Given the description of an element on the screen output the (x, y) to click on. 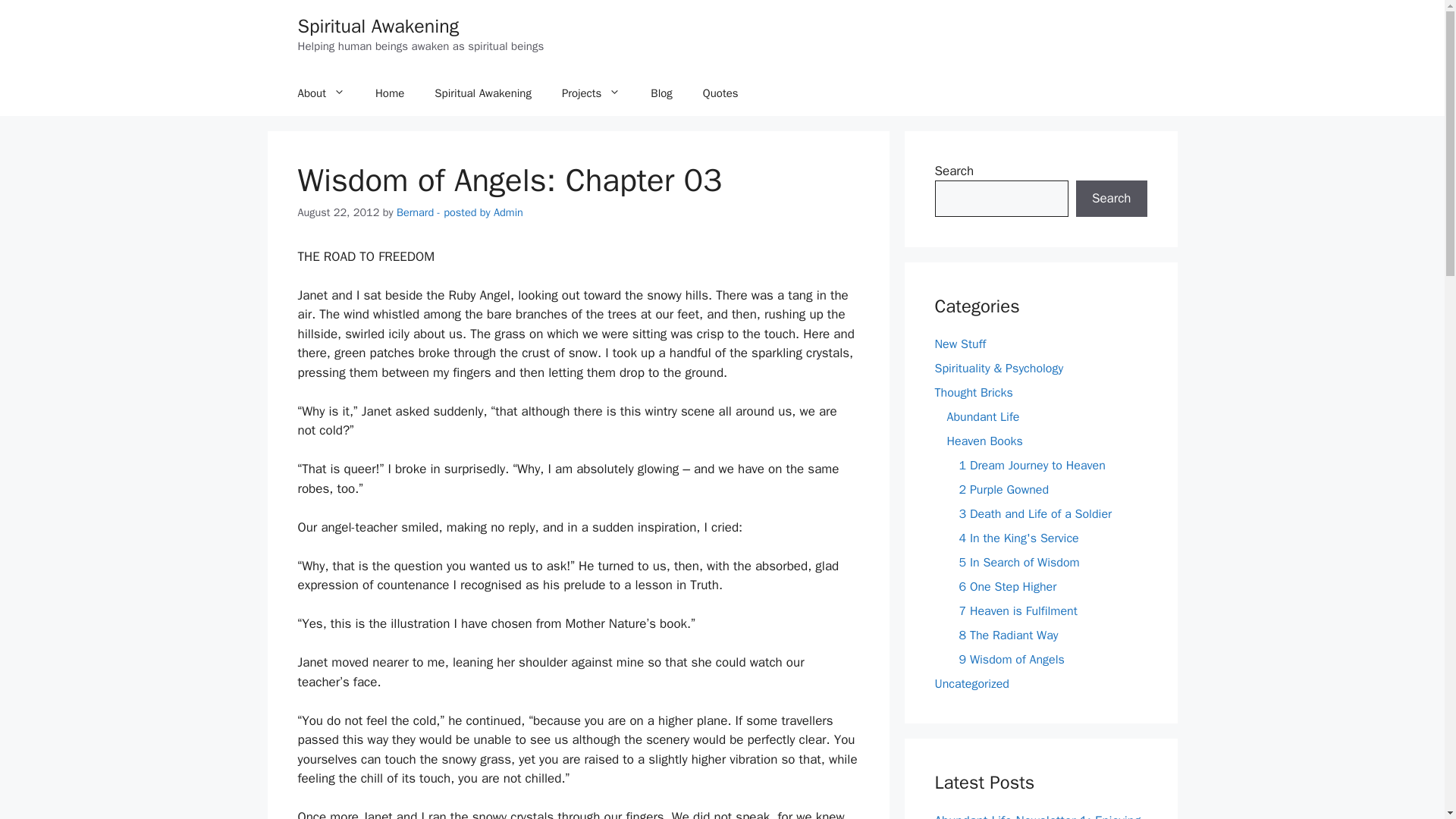
Projects (590, 92)
Search (1111, 198)
Abundant Life (982, 417)
View all posts by Bernard - posted by Admin (459, 212)
4 In the King's Service (1018, 538)
New Stuff (959, 344)
Spiritual Awakening (377, 25)
Thought Bricks (972, 392)
Spiritual Awakening (483, 92)
7 Heaven is Fulfilment (1017, 611)
